Given the description of an element on the screen output the (x, y) to click on. 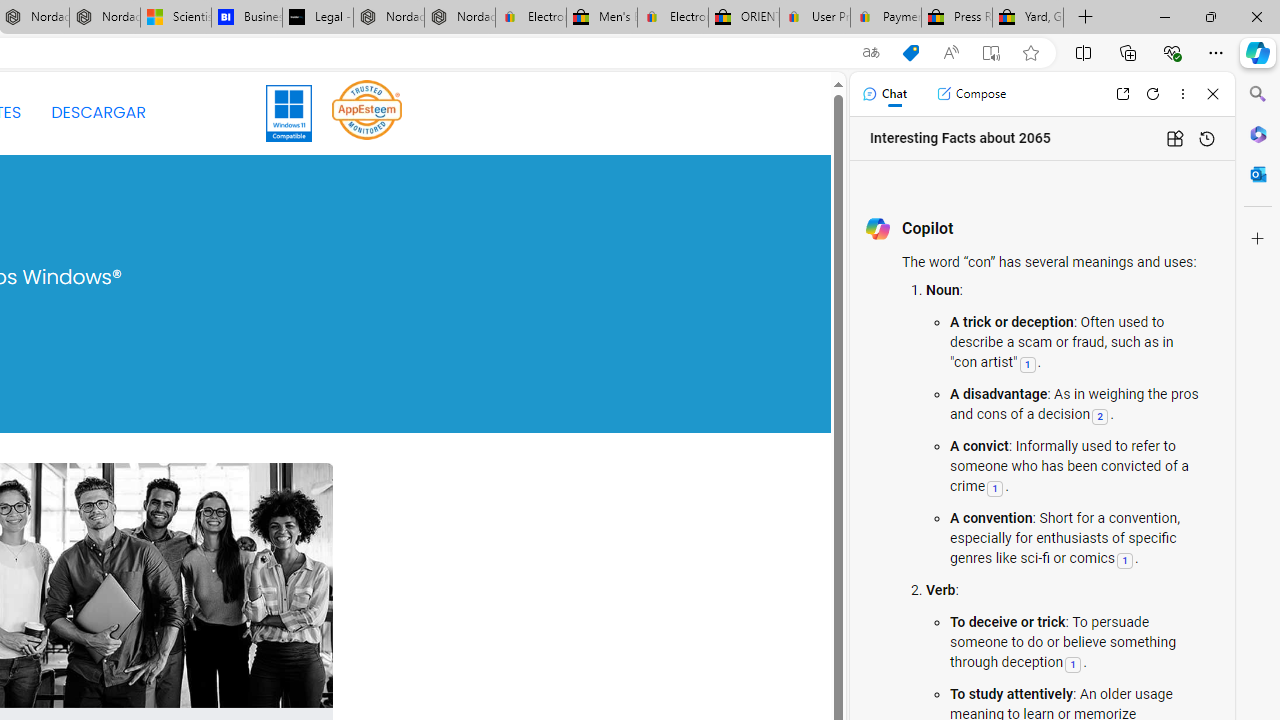
App Esteem (367, 112)
Show translate options (870, 53)
Yard, Garden & Outdoor Living (1028, 17)
